Given the description of an element on the screen output the (x, y) to click on. 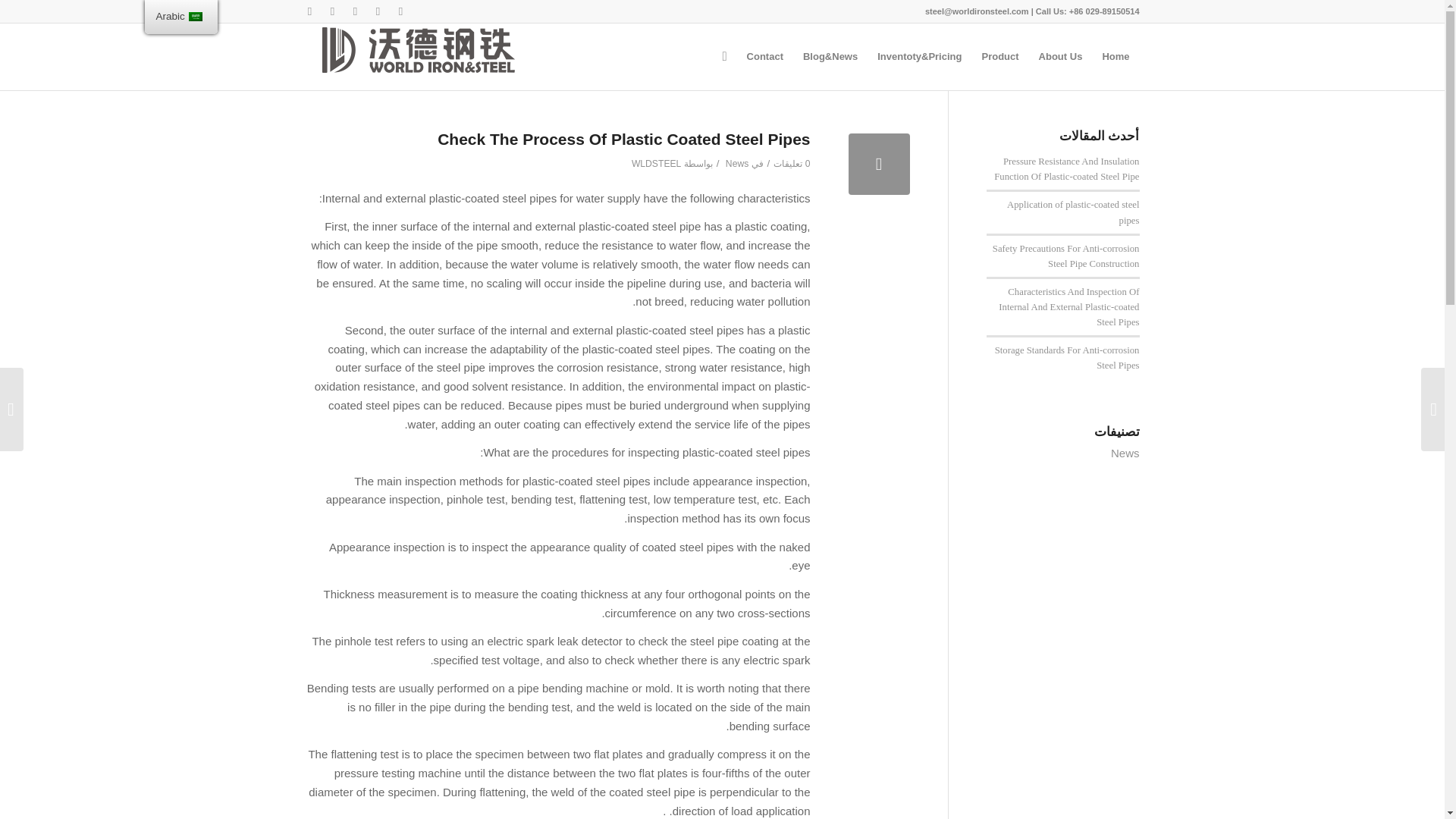
Application of plastic-coated steel pipes (1073, 212)
News (736, 163)
Pinterest (309, 11)
Contact (764, 56)
About Us (1061, 56)
Skype (354, 11)
Check The Process Of Plastic Coated Steel Pipes (877, 163)
Product (999, 56)
Twitter (378, 11)
Facebook (401, 11)
Check The Process Of Plastic Coated Steel Pipes (623, 139)
WLDSTEEL (656, 163)
Home (1115, 56)
